Given the description of an element on the screen output the (x, y) to click on. 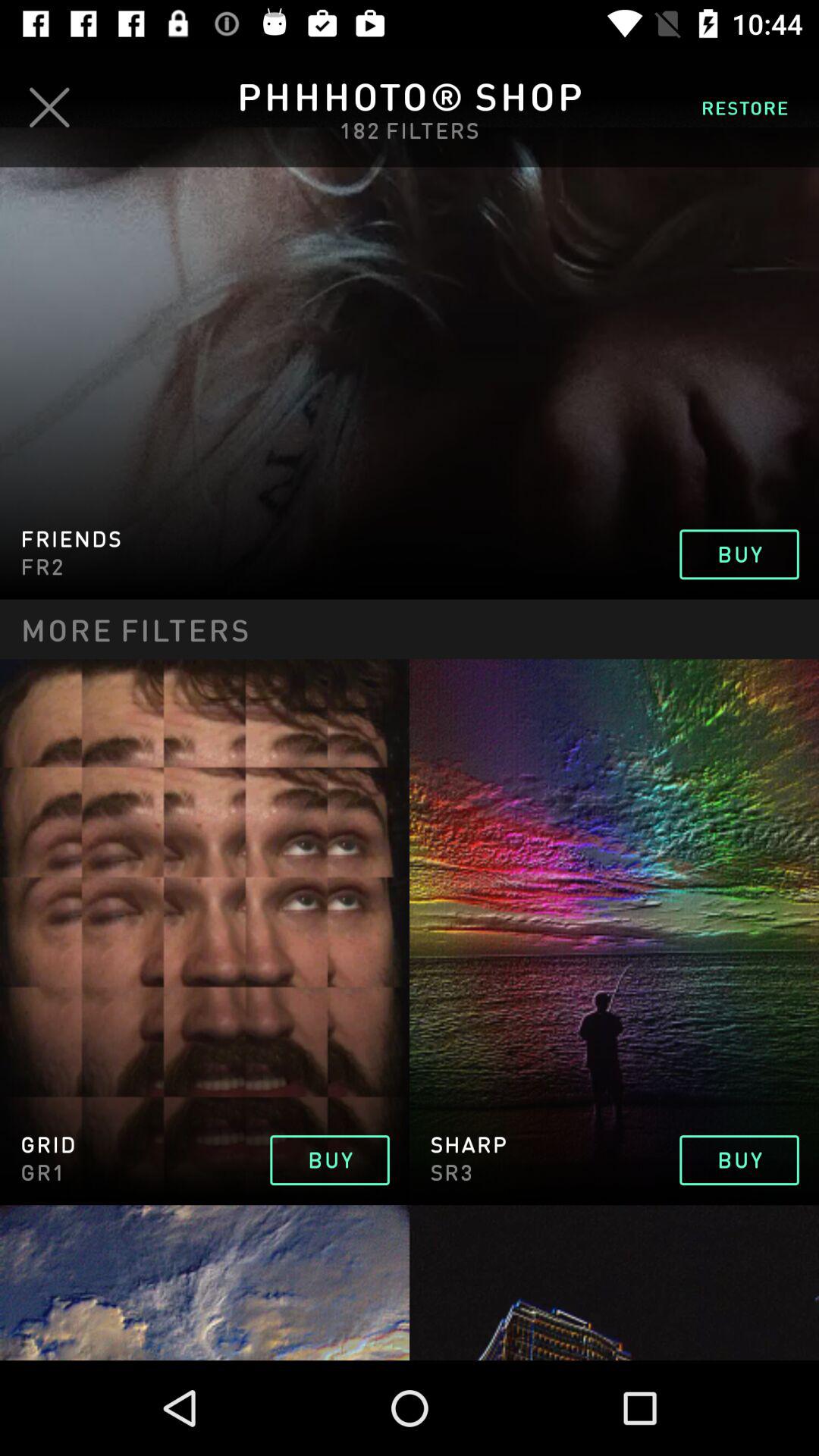
select the restore (744, 107)
